Given the description of an element on the screen output the (x, y) to click on. 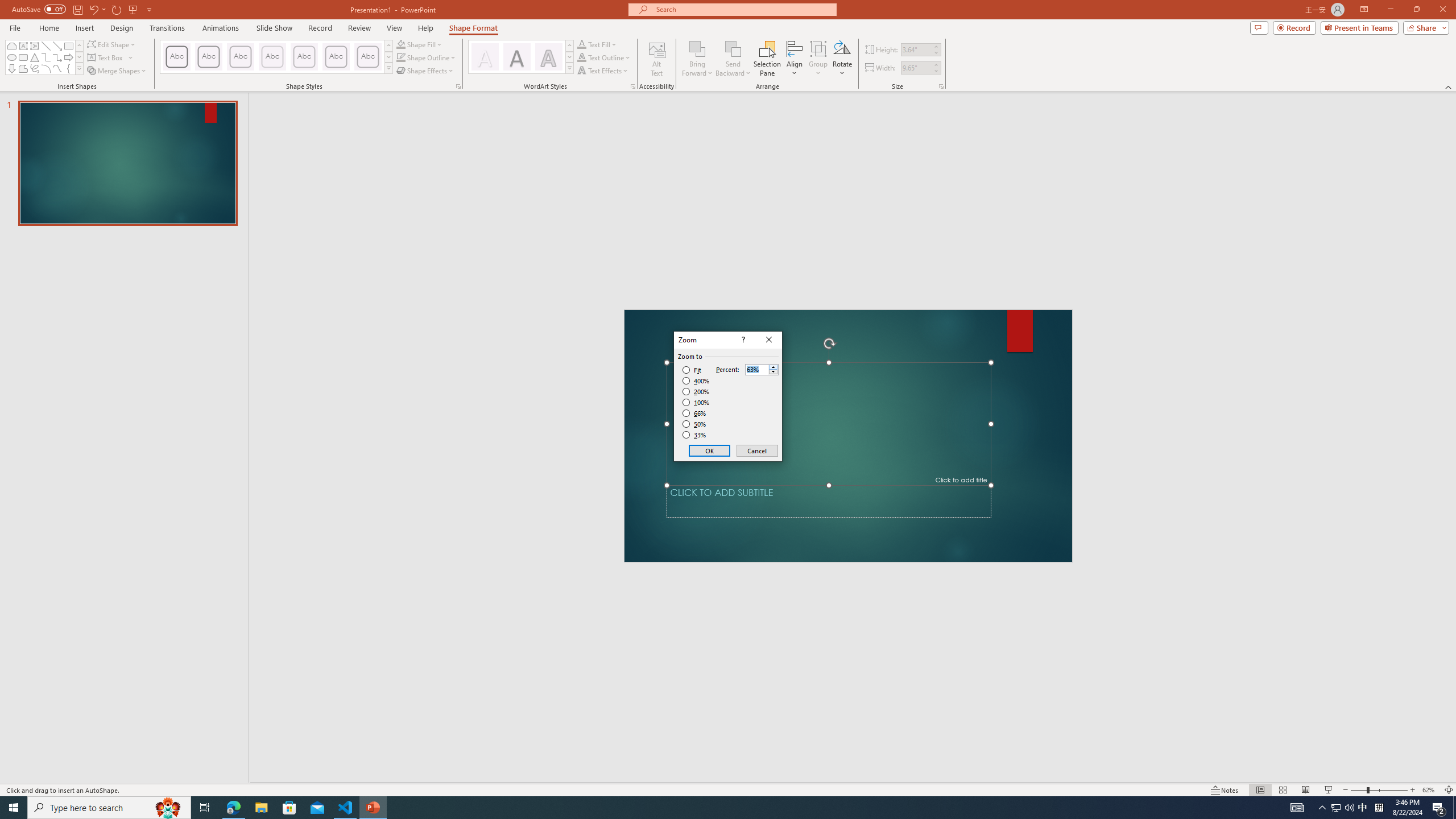
Percent (756, 369)
Fill: Dark Red, Accent color 1; Shadow (516, 56)
66% (694, 412)
Text Outline (604, 56)
Zoom 62% (1430, 790)
